Given the description of an element on the screen output the (x, y) to click on. 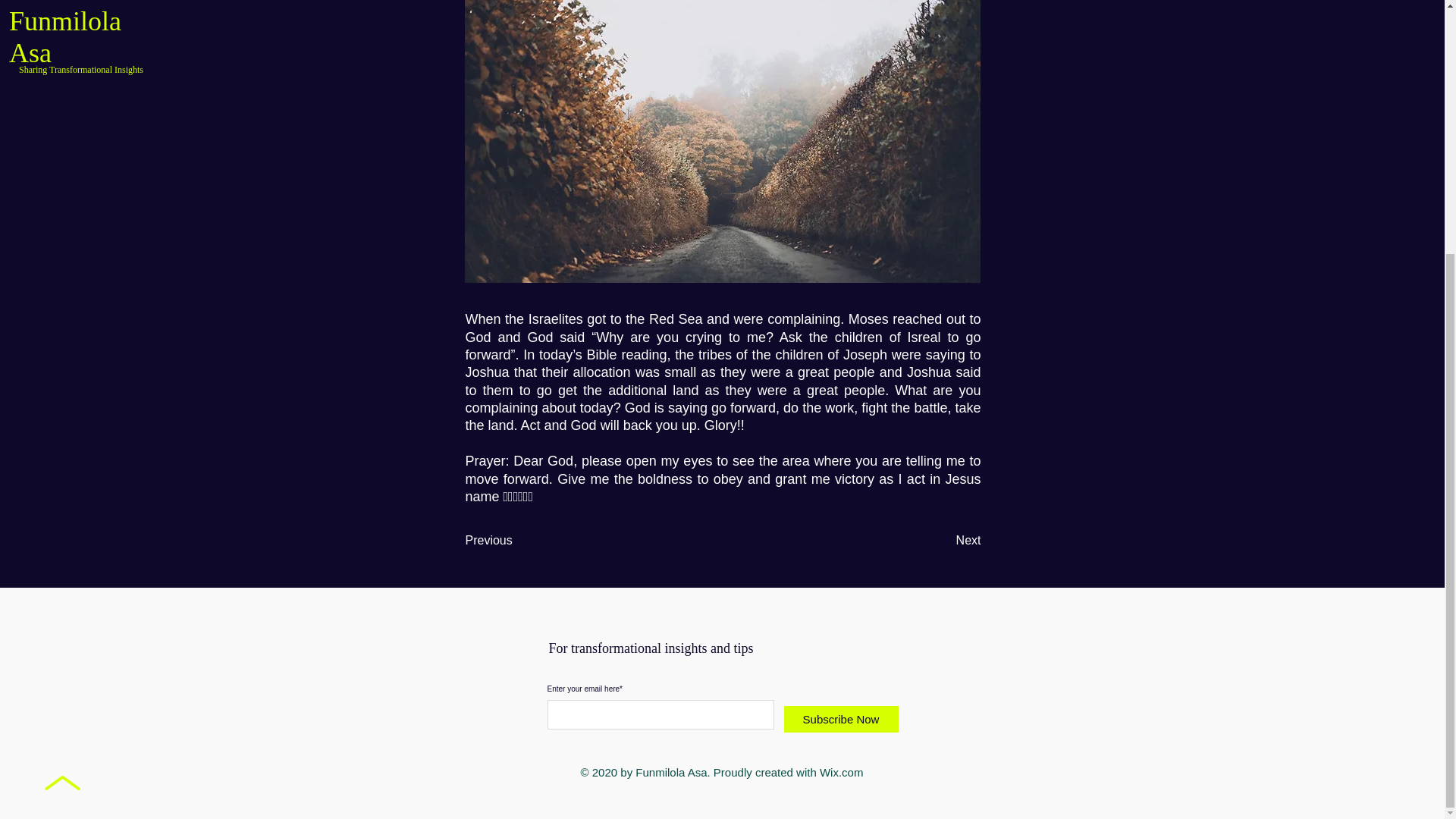
Next (943, 540)
Previous (515, 540)
Subscribe Now (841, 718)
Wix.com (841, 771)
